Given the description of an element on the screen output the (x, y) to click on. 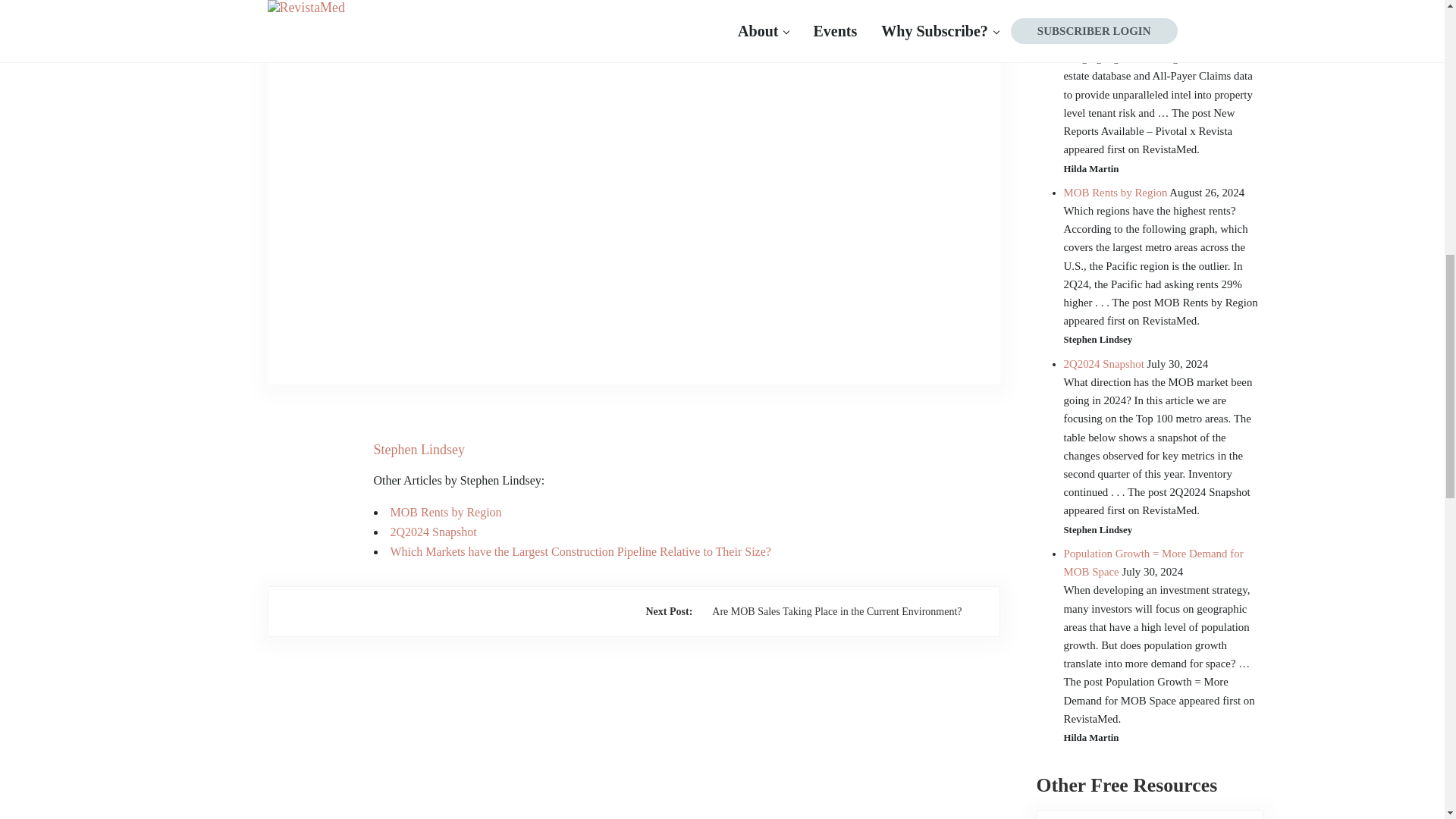
MOB Rents by Region (445, 512)
2Q2024 Snapshot (433, 531)
Stephen Lindsey (418, 449)
